Given the description of an element on the screen output the (x, y) to click on. 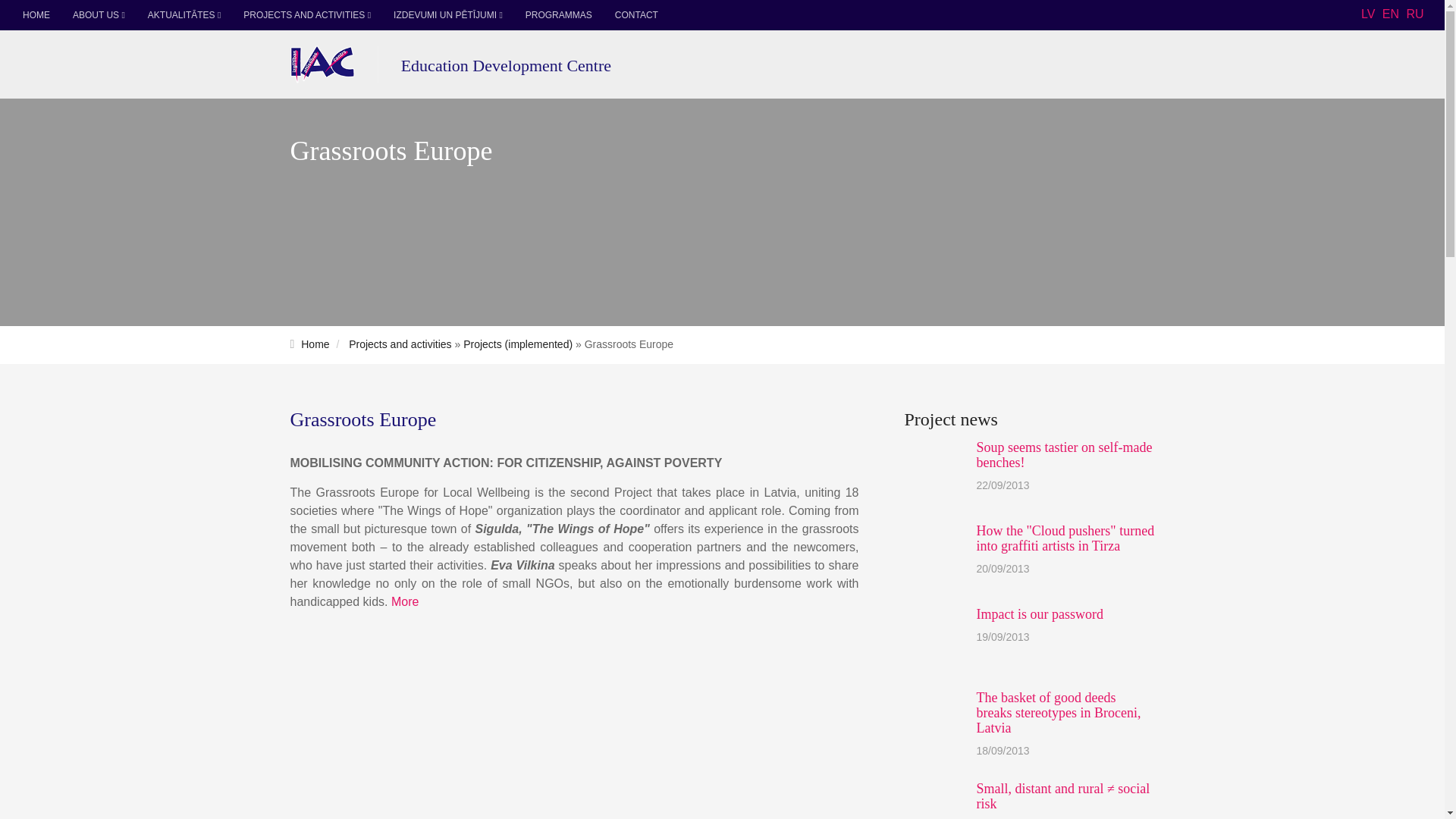
EN (1390, 13)
RU (1414, 13)
HOME (36, 15)
Impact is our password (1039, 613)
Soup seems tastier on self-made benches! (1064, 454)
Projects and activities (400, 344)
More (405, 601)
ABOUT US (98, 15)
PROGRAMMAS (558, 15)
PROJECTS AND ACTIVITIES (306, 15)
LV (1367, 13)
Home (315, 344)
CONTACT (636, 15)
